Given the description of an element on the screen output the (x, y) to click on. 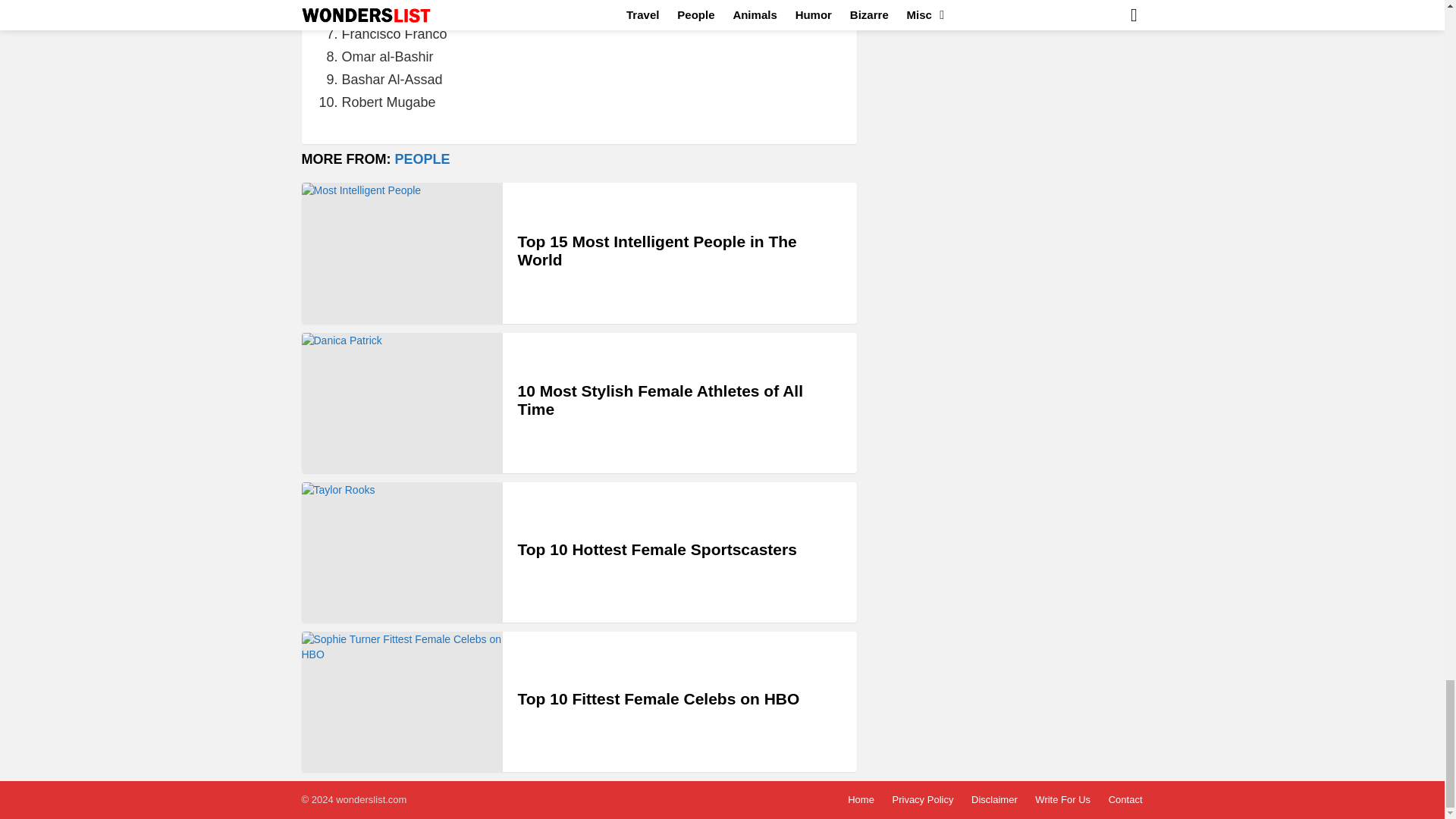
Top 15 Most Intelligent People in The World (401, 252)
Top 10 Hottest Female Sportscasters (401, 552)
10 Most Stylish Female Athletes of All Time (401, 402)
Top 10 Fittest Female Celebs on HBO (401, 701)
